Given the description of an element on the screen output the (x, y) to click on. 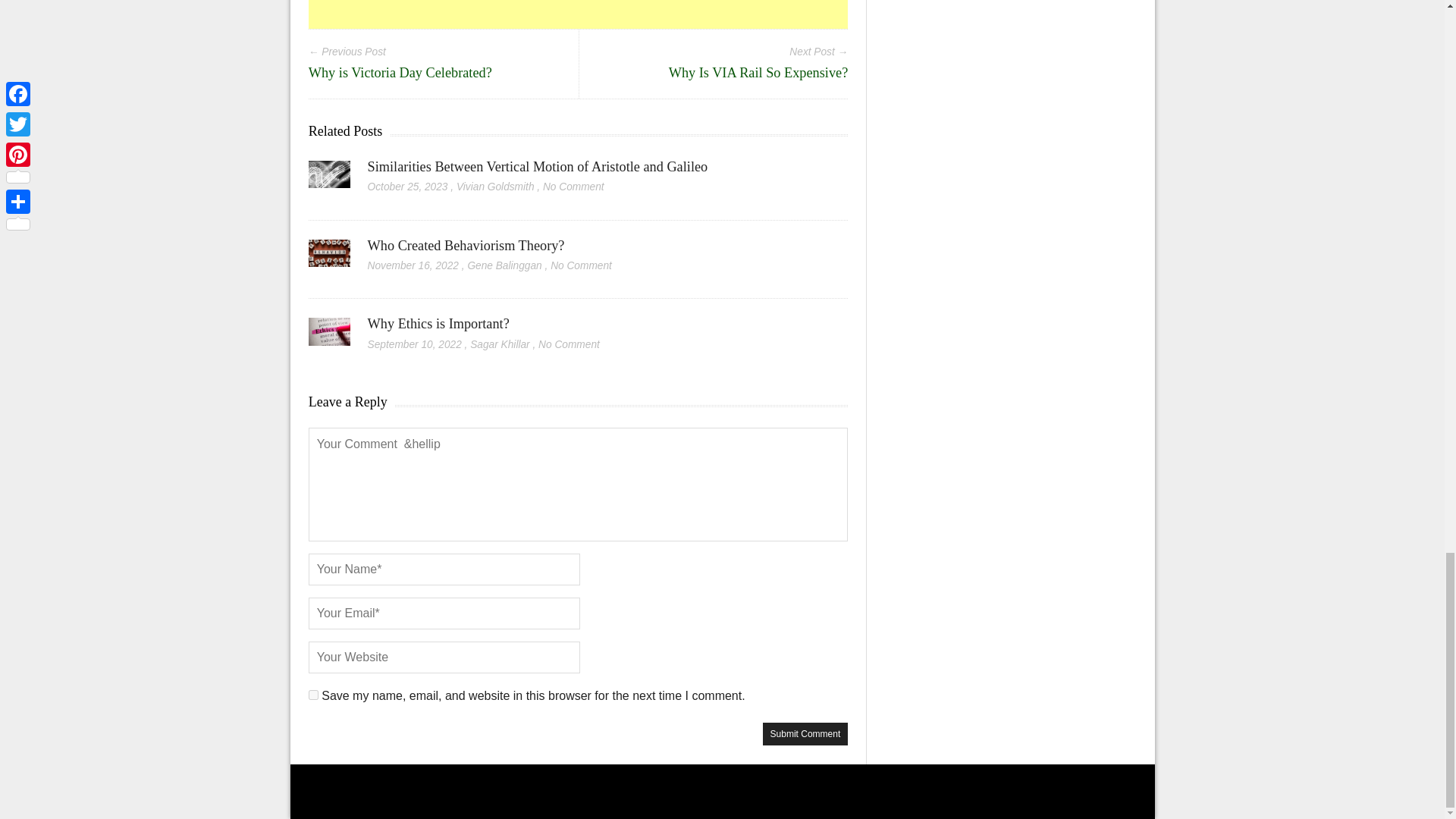
Posts by Vivian Goldsmith (495, 186)
Gene Balinggan (504, 265)
Advertisement (578, 14)
Submit Comment (805, 733)
yes (313, 695)
Vivian Goldsmith (495, 186)
Who Created Behaviorism Theory? (329, 258)
No Comment (573, 186)
Who Created Behaviorism Theory? (466, 245)
Who Created Behaviorism Theory? (466, 245)
No Comment (580, 265)
